Given the description of an element on the screen output the (x, y) to click on. 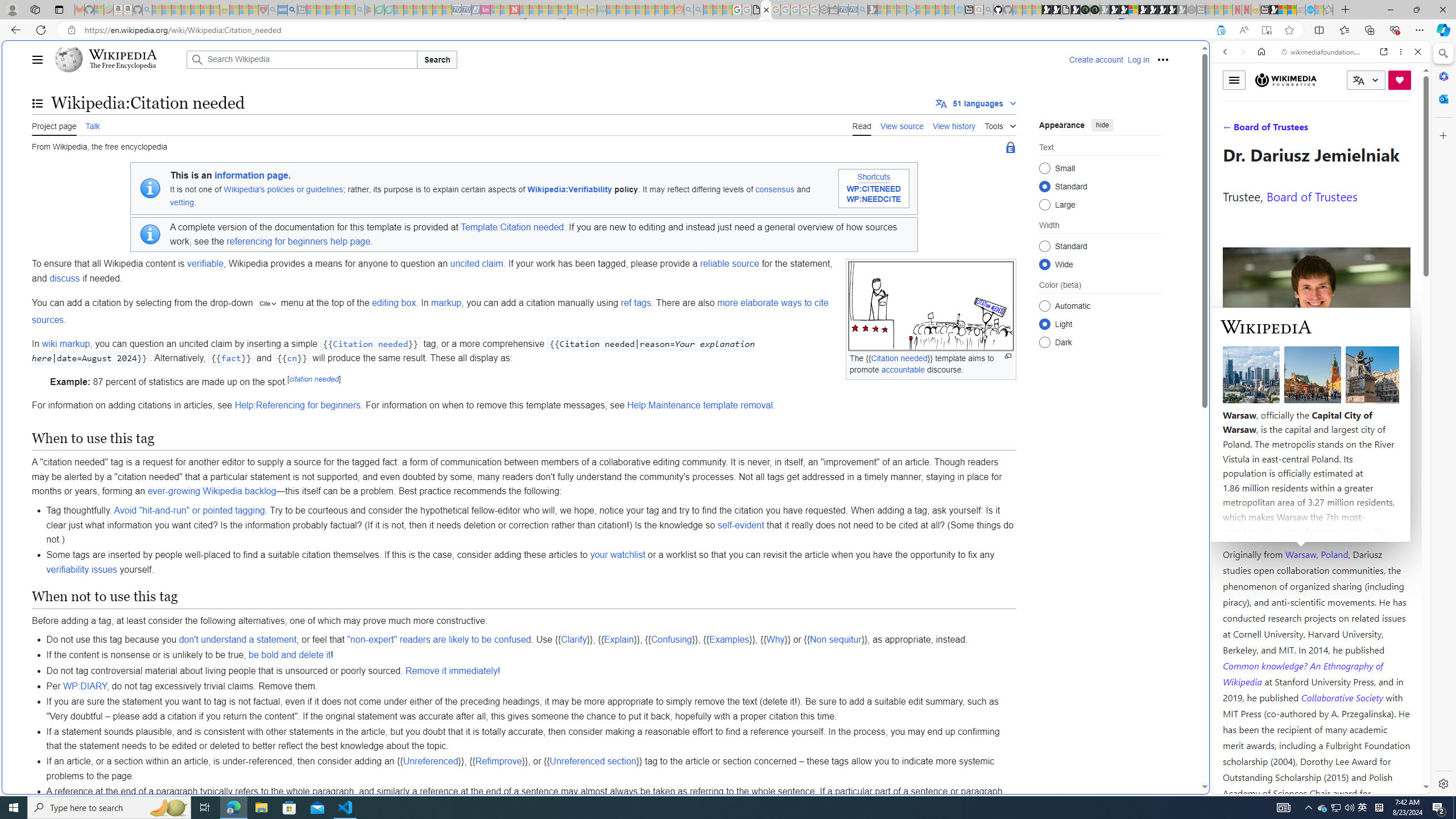
Toggle the table of contents (37, 103)
hide (1102, 124)
Wikipedia:Verifiability (569, 189)
accountable (903, 369)
